Given the description of an element on the screen output the (x, y) to click on. 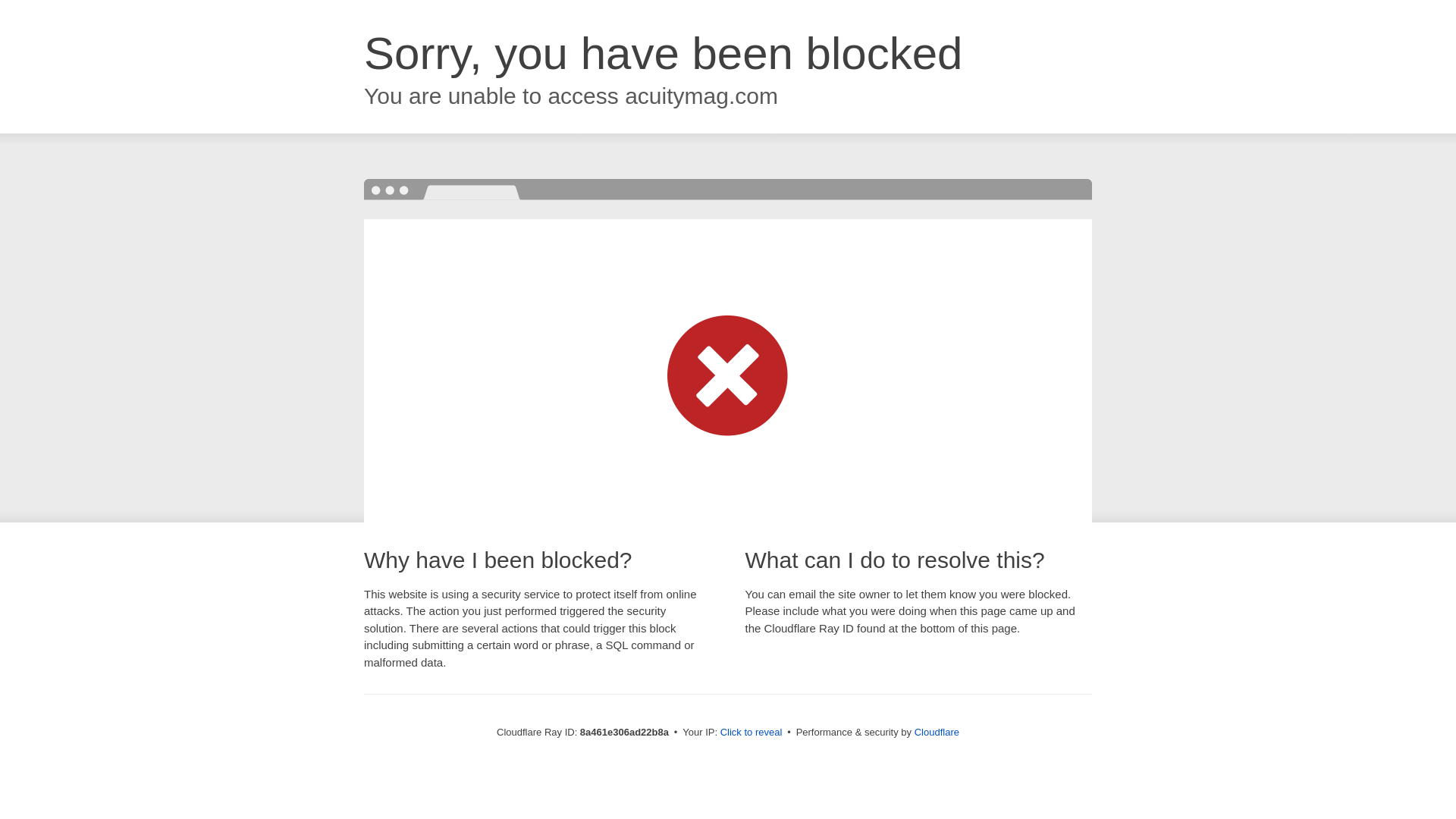
Cloudflare (936, 731)
Click to reveal (751, 732)
